Given the description of an element on the screen output the (x, y) to click on. 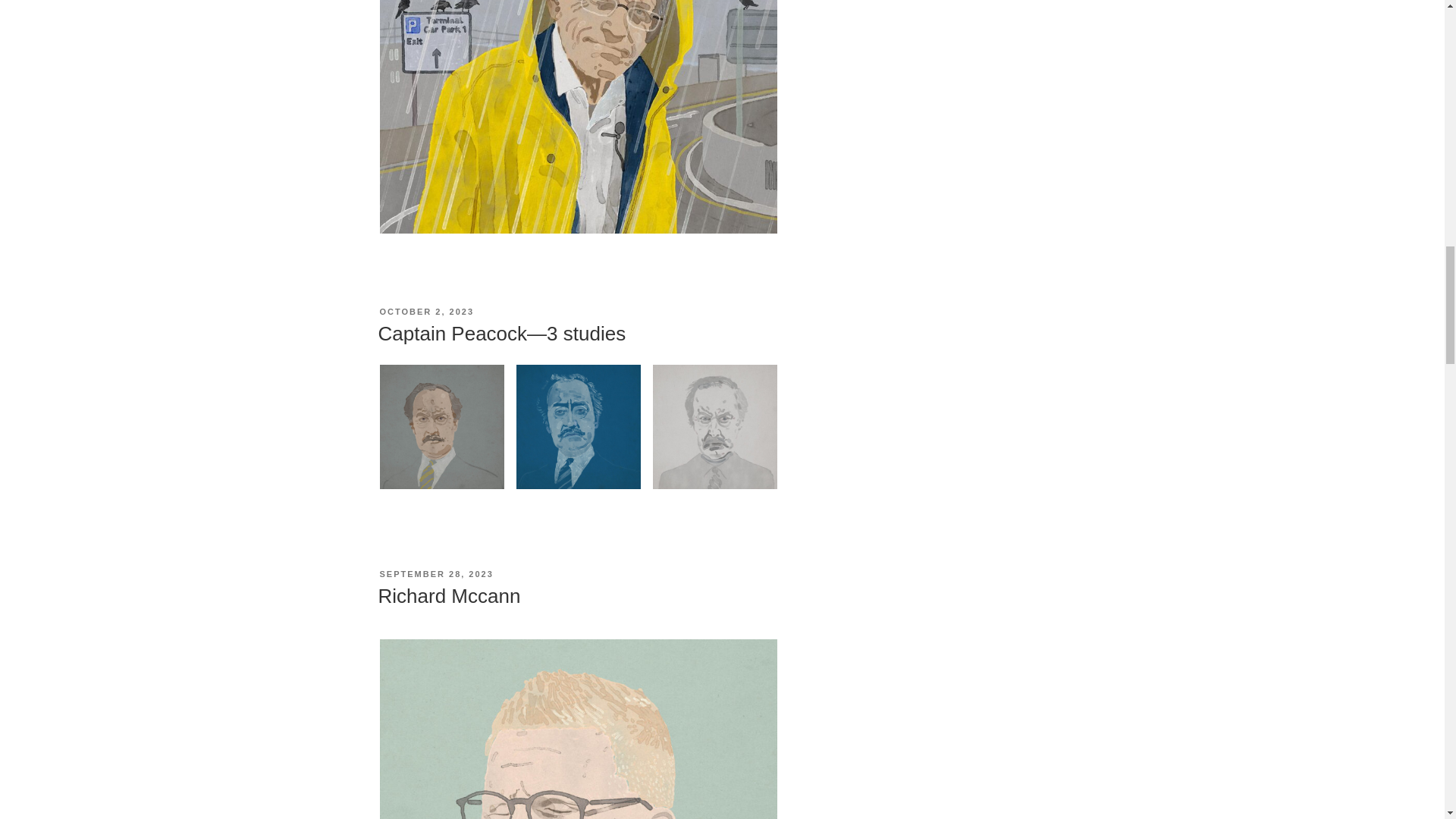
Richard Mccann (448, 595)
OCTOBER 2, 2023 (426, 311)
SEPTEMBER 28, 2023 (435, 573)
